Given the description of an element on the screen output the (x, y) to click on. 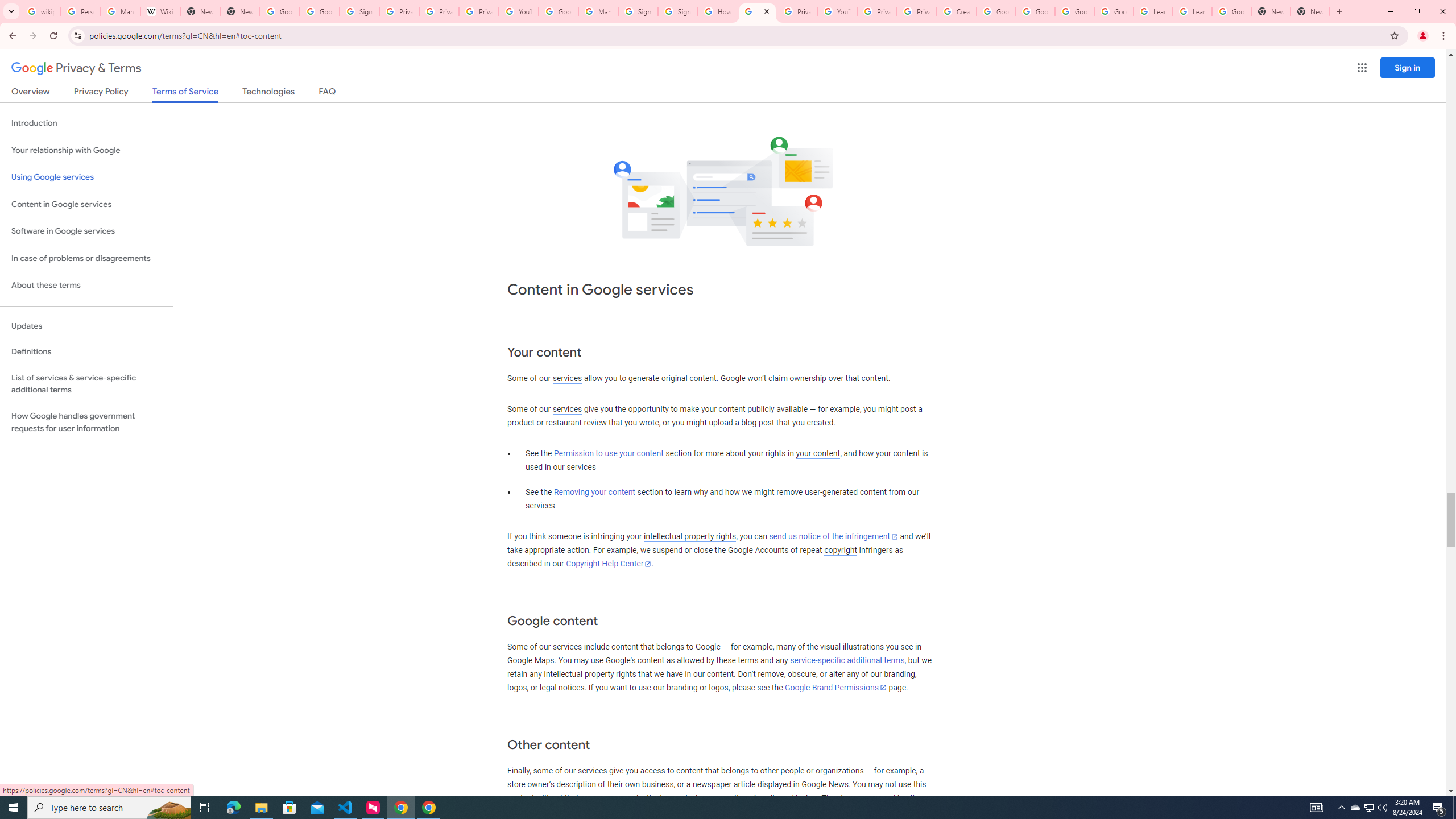
About these terms (86, 284)
Google Brand Permissions (835, 687)
Google Account Help (557, 11)
Google Account Help (1074, 11)
services (591, 770)
Google Drive: Sign-in (319, 11)
send us notice of the infringement (833, 536)
